Given the description of an element on the screen output the (x, y) to click on. 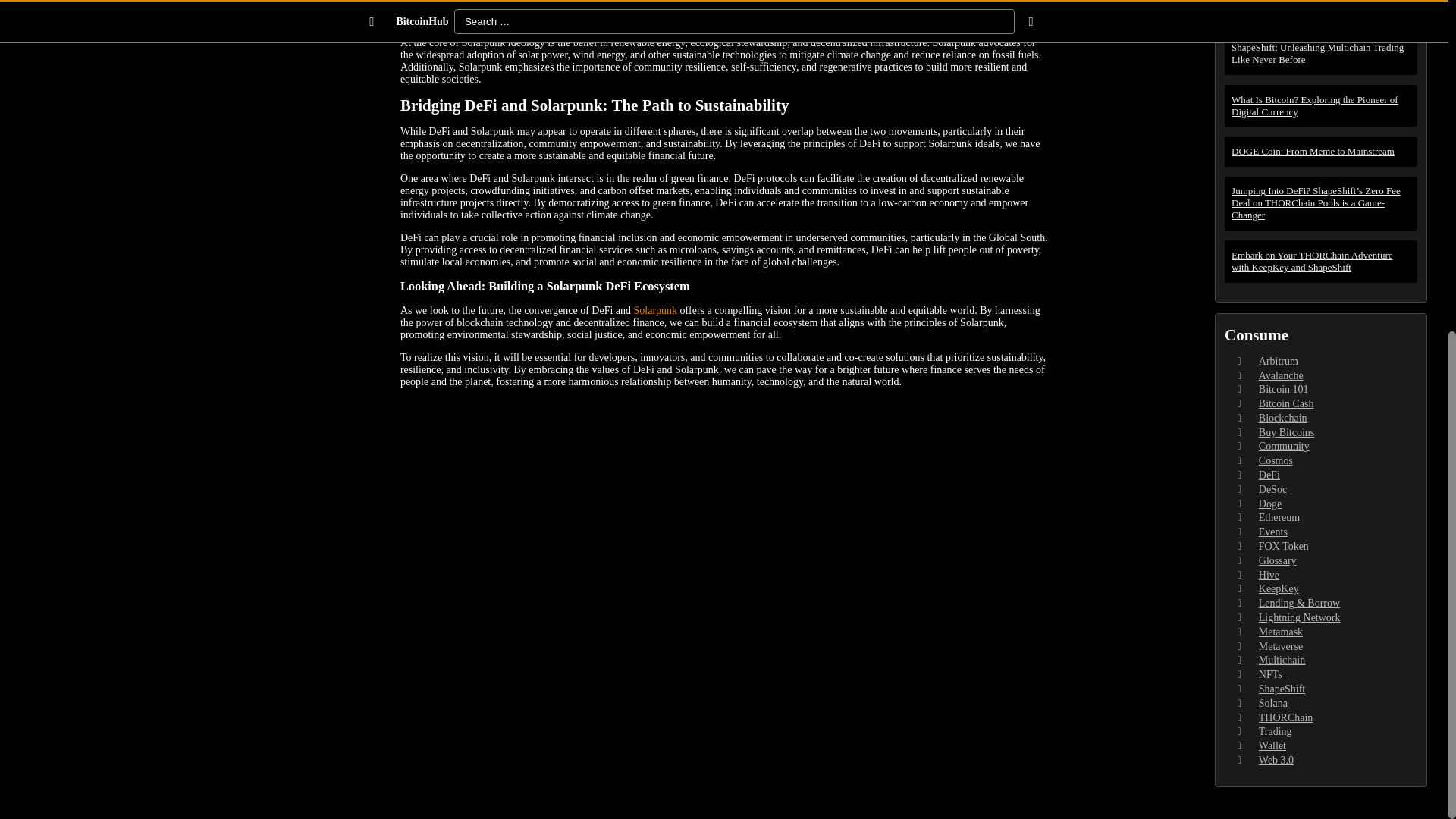
Bitcoin 101 (1283, 389)
What Is Bitcoin? Exploring the Pioneer of Digital Currency (1321, 105)
DOGE Coin: From Meme to Mainstream (1321, 150)
DeFi (1269, 474)
Bitcoin Cash (1286, 403)
Arbitrum (1278, 360)
Solarpunk (655, 310)
Blockchain (1283, 418)
ShapeShift: Unleashing Multichain Trading Like Never Before (1321, 53)
